Given the description of an element on the screen output the (x, y) to click on. 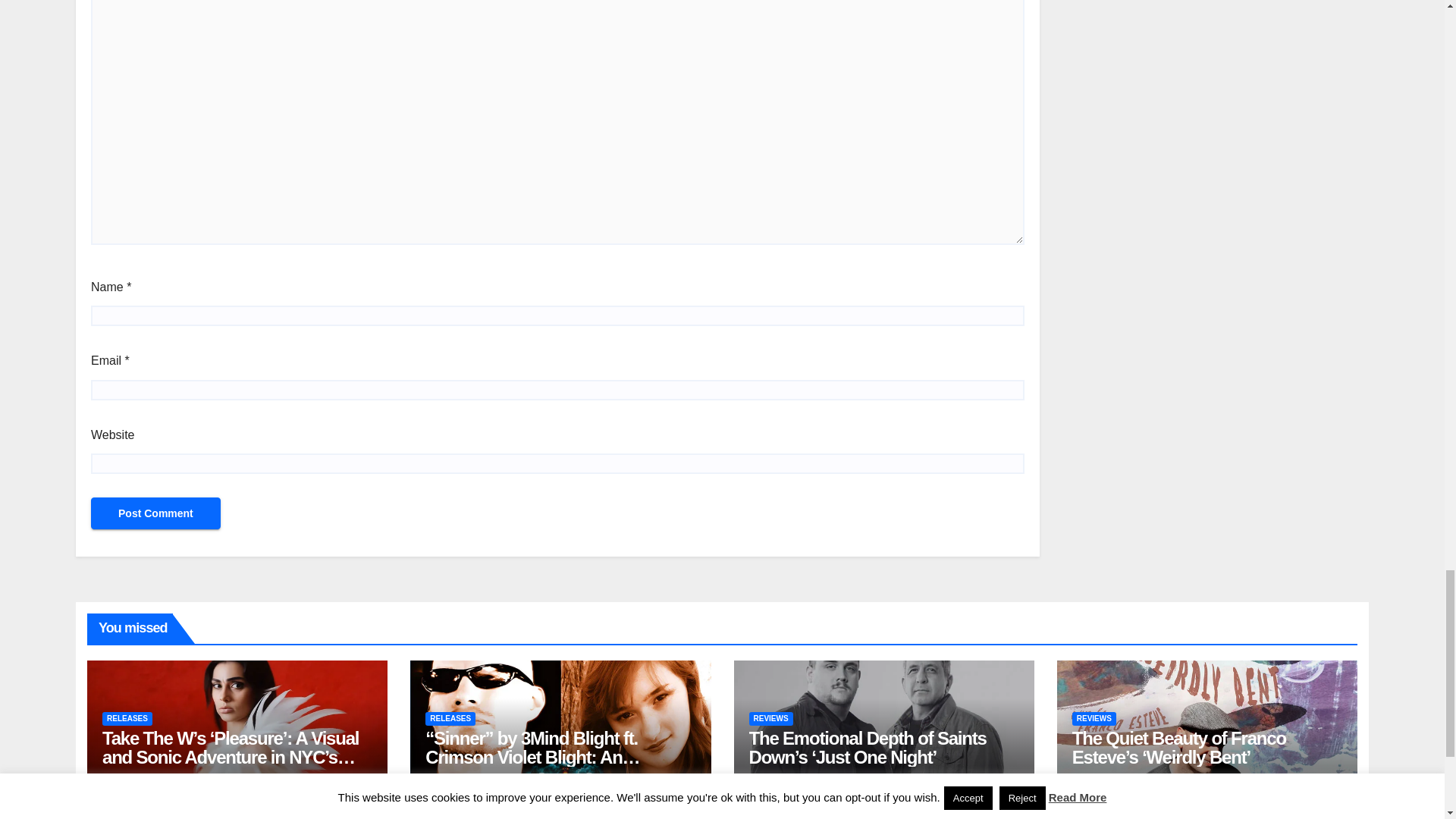
Post Comment (155, 513)
